Given the description of an element on the screen output the (x, y) to click on. 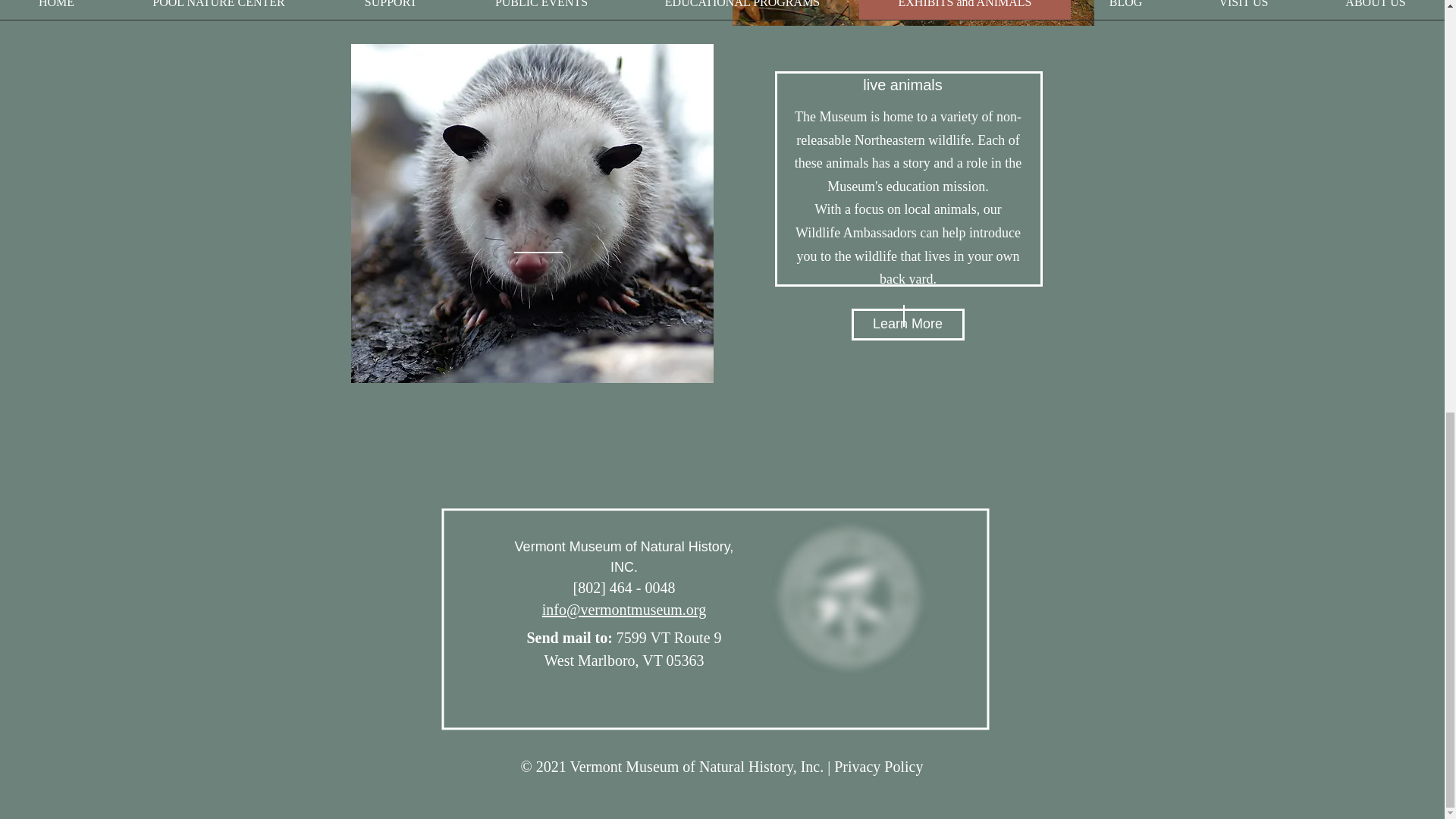
Southern Vermont Natural History Museum (848, 597)
Privacy Policy (878, 766)
Learn More (906, 324)
